Given the description of an element on the screen output the (x, y) to click on. 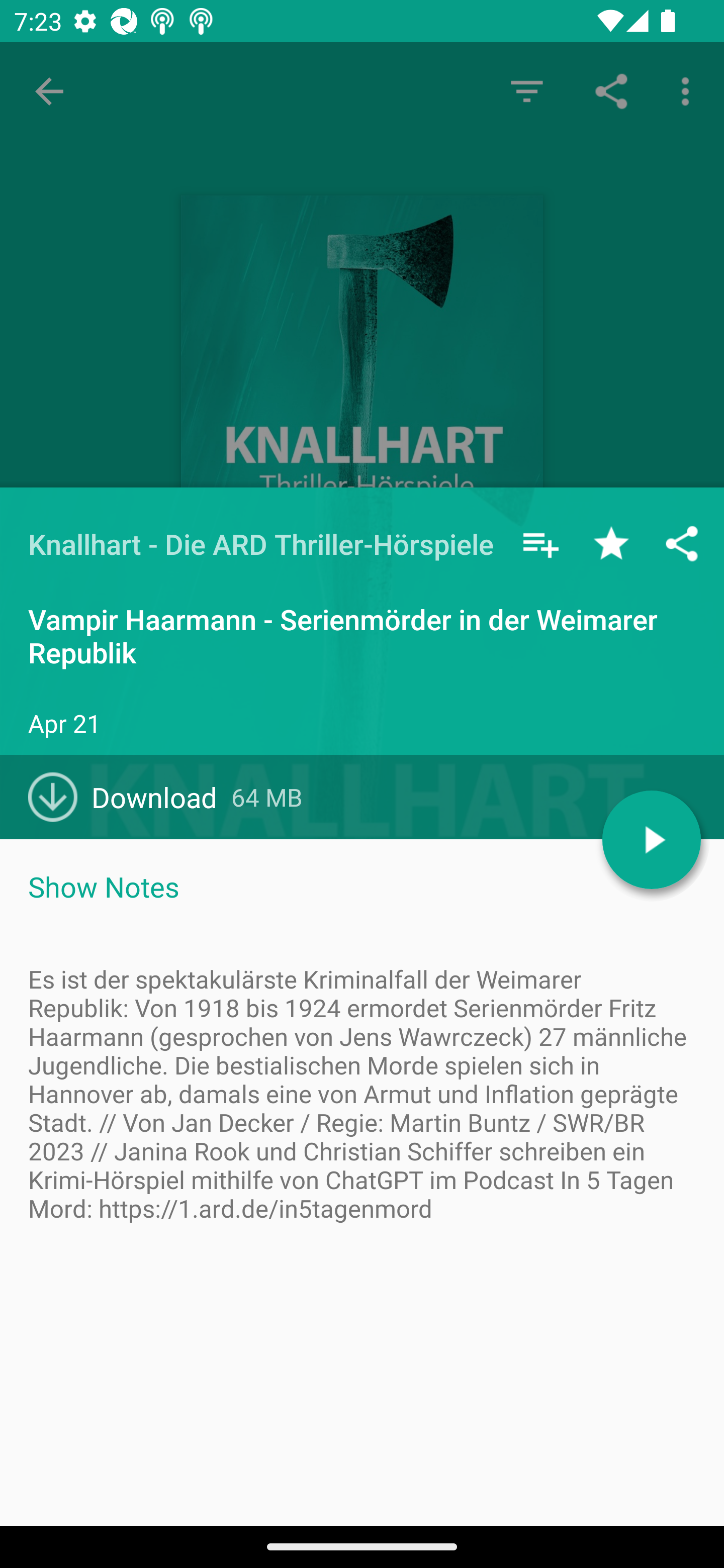
Download (129, 797)
